Given the description of an element on the screen output the (x, y) to click on. 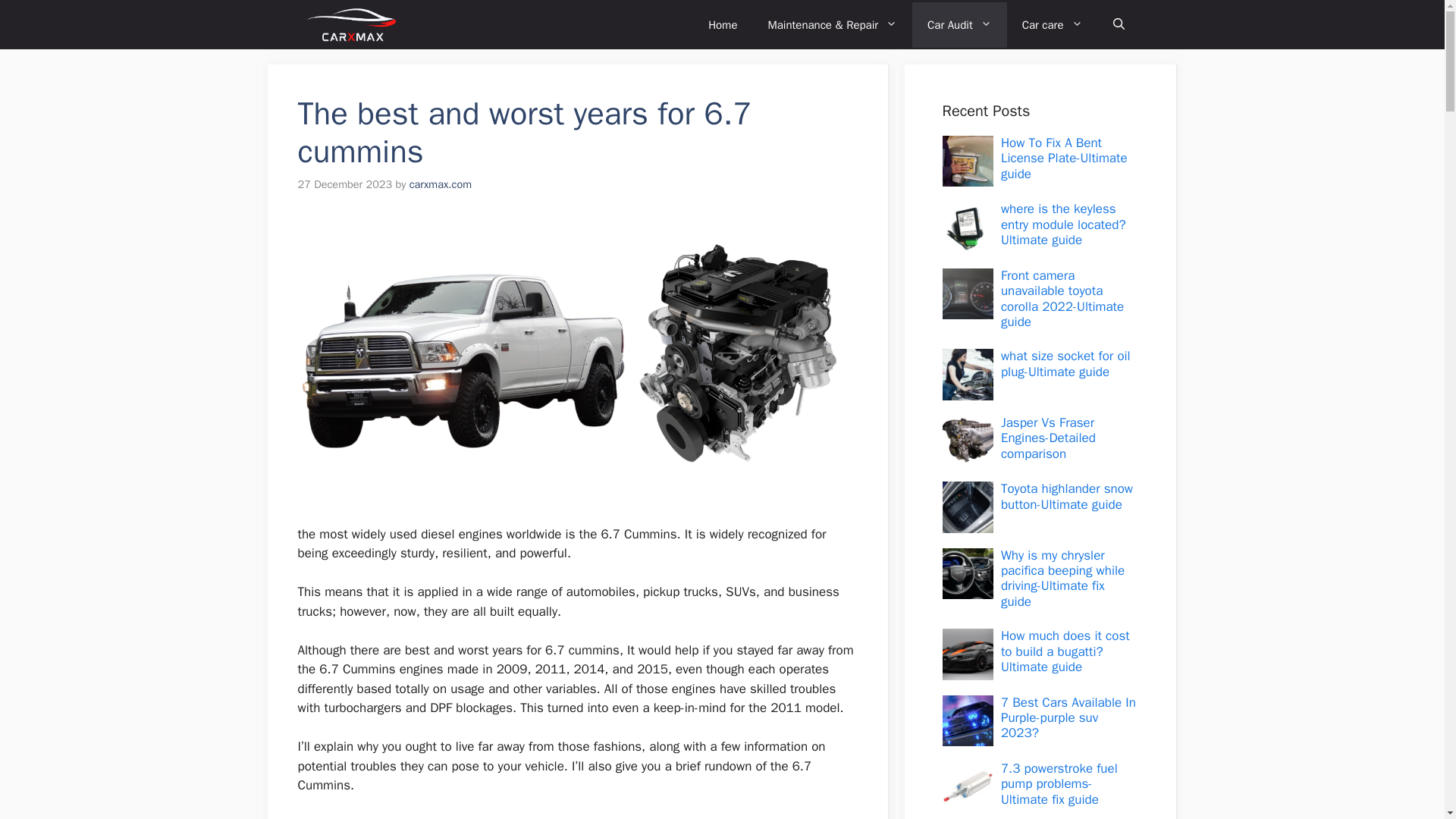
Home (722, 23)
carxmax.com (440, 183)
Car Audit (959, 23)
View all posts by carxmax.com (440, 183)
Car care (1052, 23)
